Given the description of an element on the screen output the (x, y) to click on. 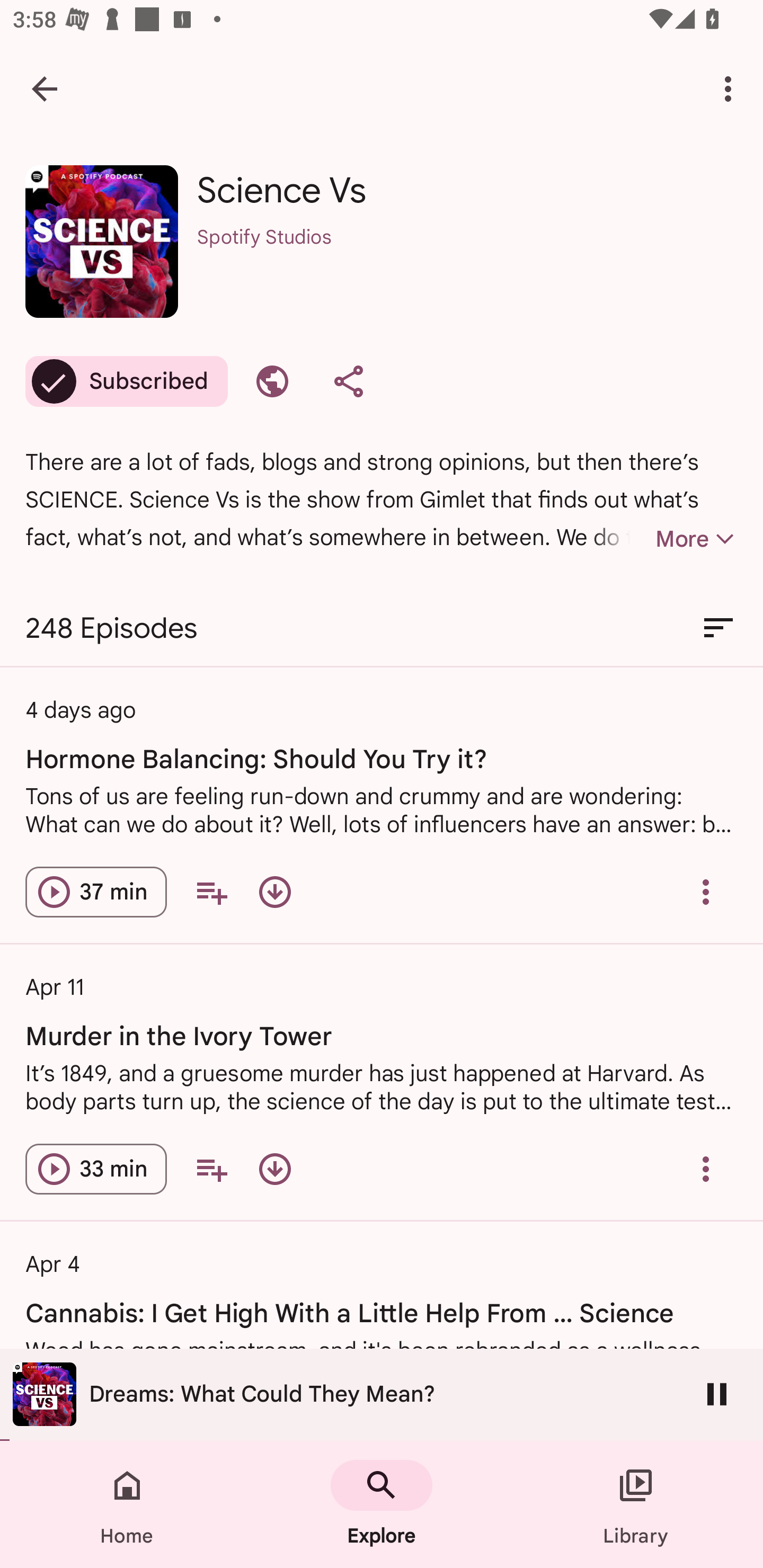
Navigate up (44, 88)
More options (731, 88)
Spotify Studios (466, 260)
Subscribed (126, 381)
Visit website (272, 381)
Share (348, 381)
More (664, 539)
Sort (718, 627)
Add to your queue (211, 891)
Download episode (274, 891)
Overflow menu (705, 891)
Play episode Murder in the Ivory Tower 33 min (96, 1168)
Add to your queue (211, 1168)
Download episode (274, 1168)
Overflow menu (705, 1168)
Pause (717, 1394)
Home (127, 1504)
Library (635, 1504)
